Given the description of an element on the screen output the (x, y) to click on. 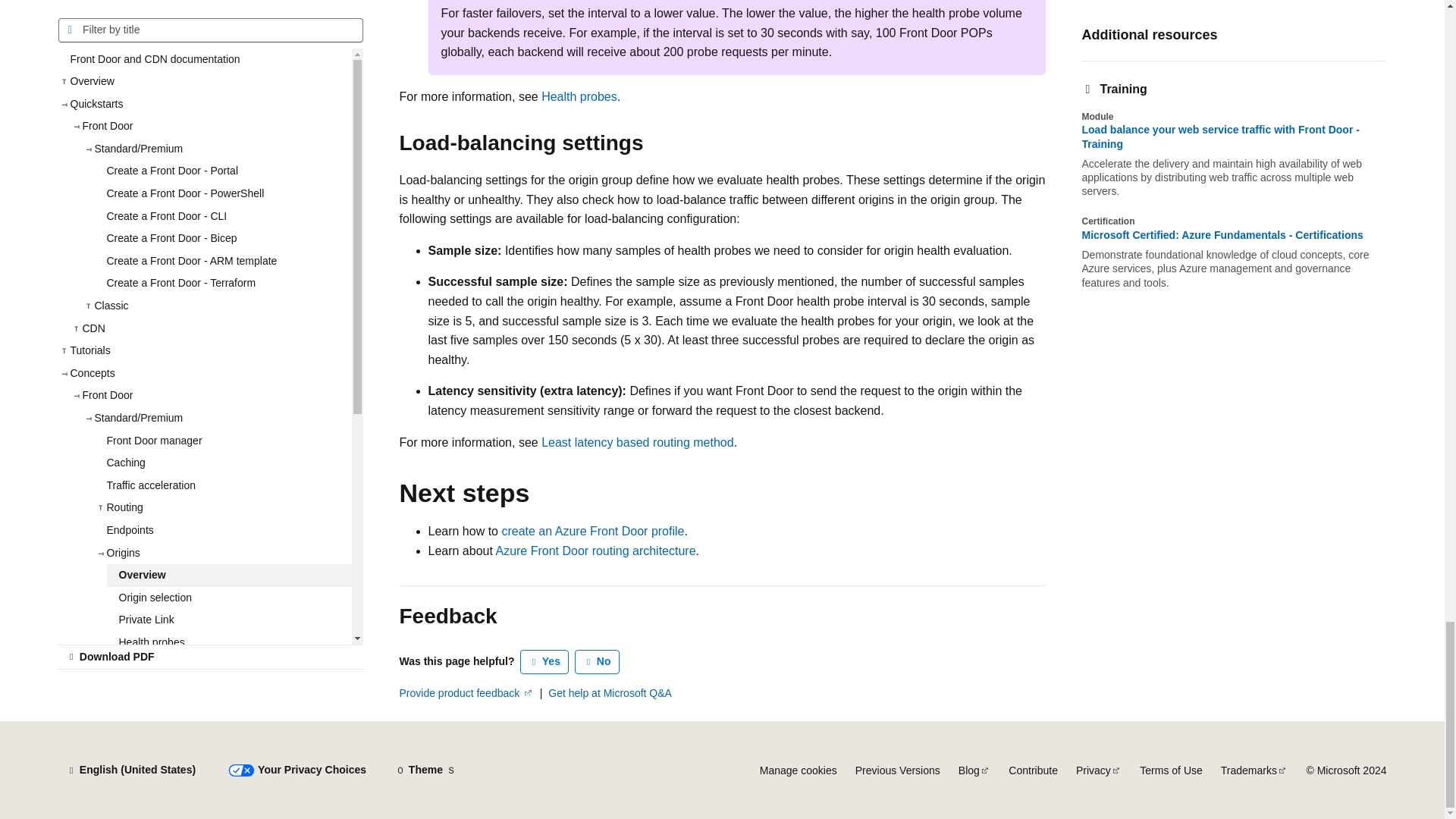
This article is not helpful (597, 662)
This article is helpful (544, 662)
Theme (425, 770)
